Given the description of an element on the screen output the (x, y) to click on. 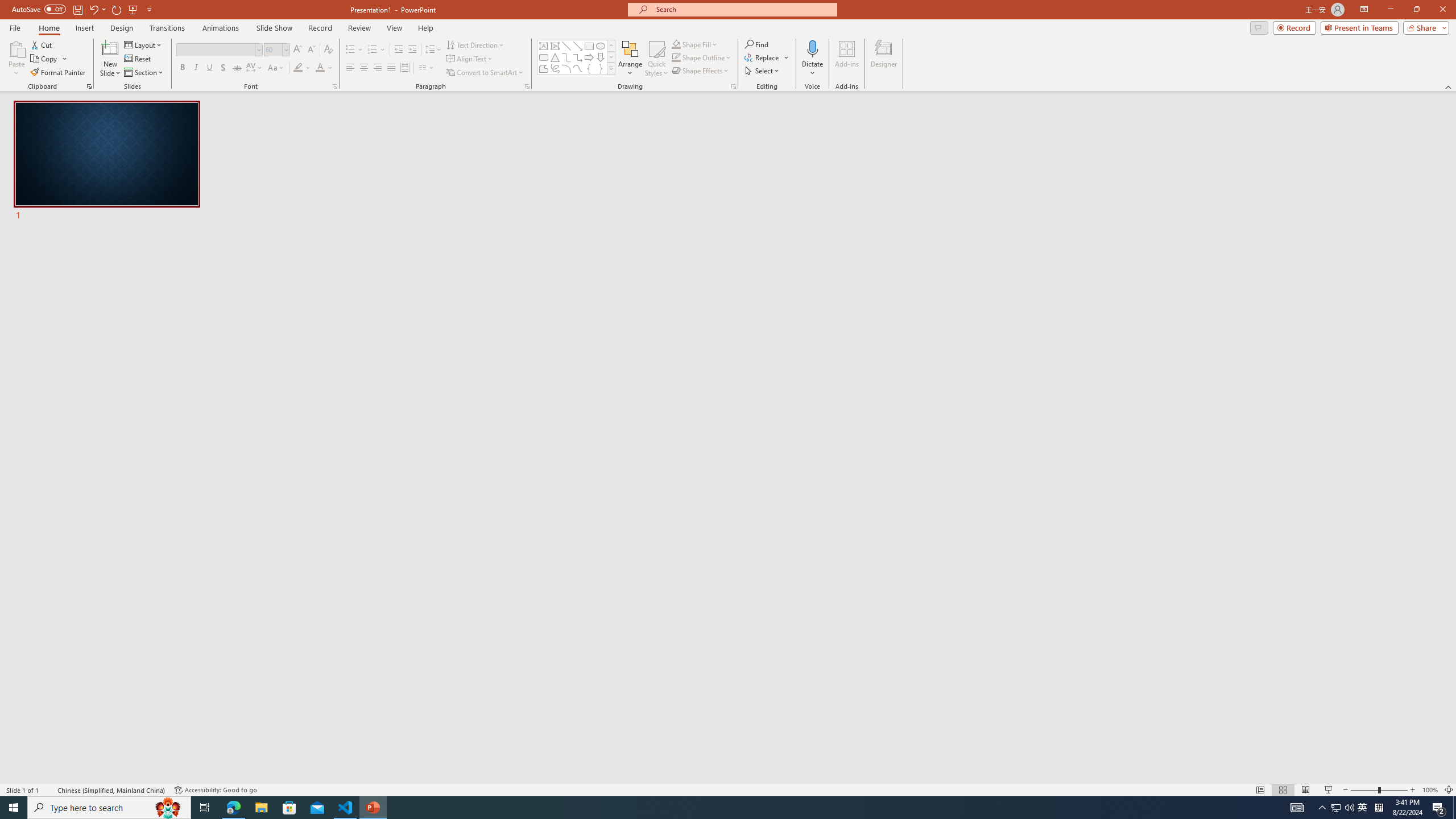
Zoom 100% (1430, 790)
Shape Fill Orange, Accent 2 (675, 44)
